Given the description of an element on the screen output the (x, y) to click on. 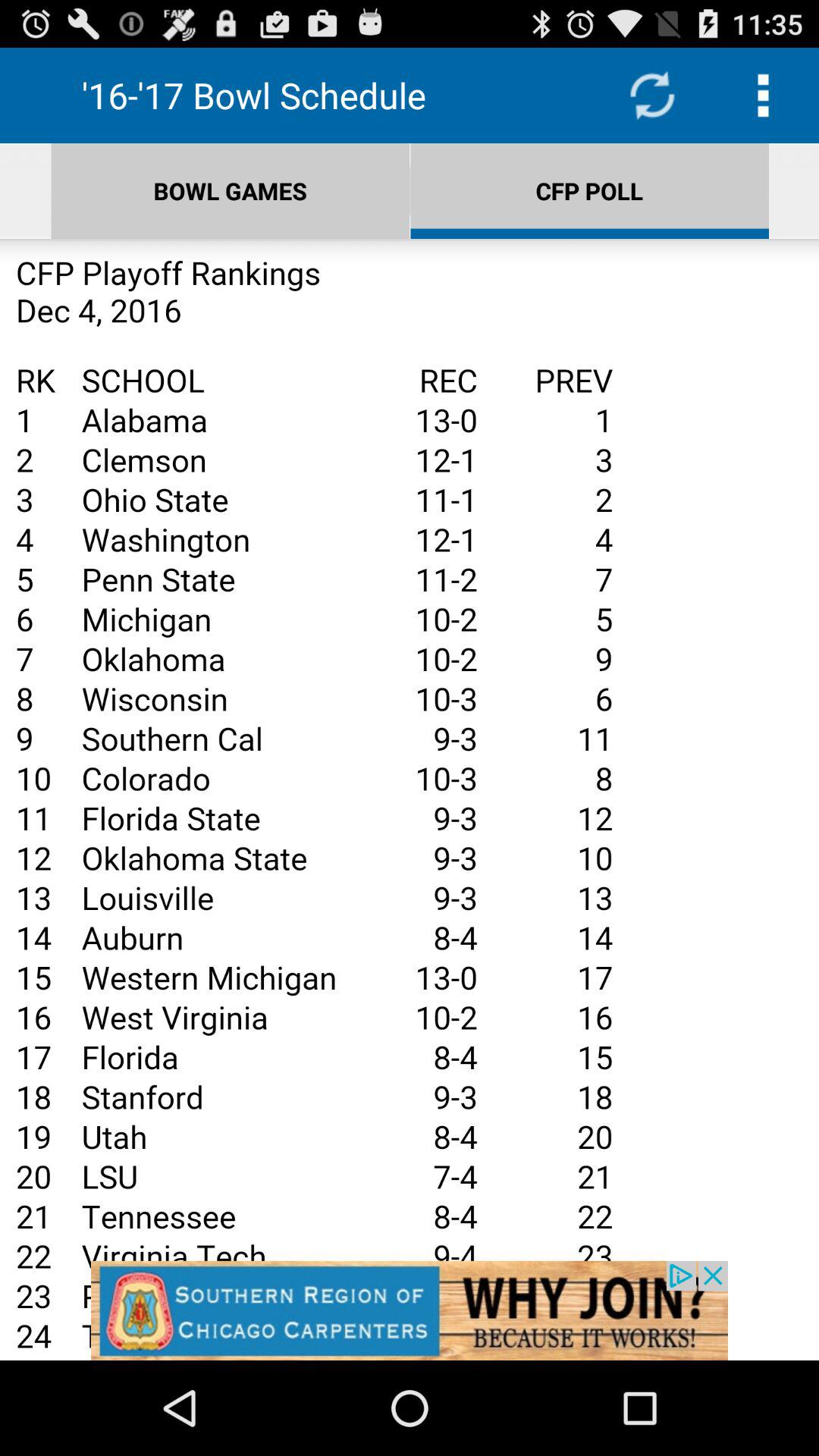
advertisement (409, 1310)
